Given the description of an element on the screen output the (x, y) to click on. 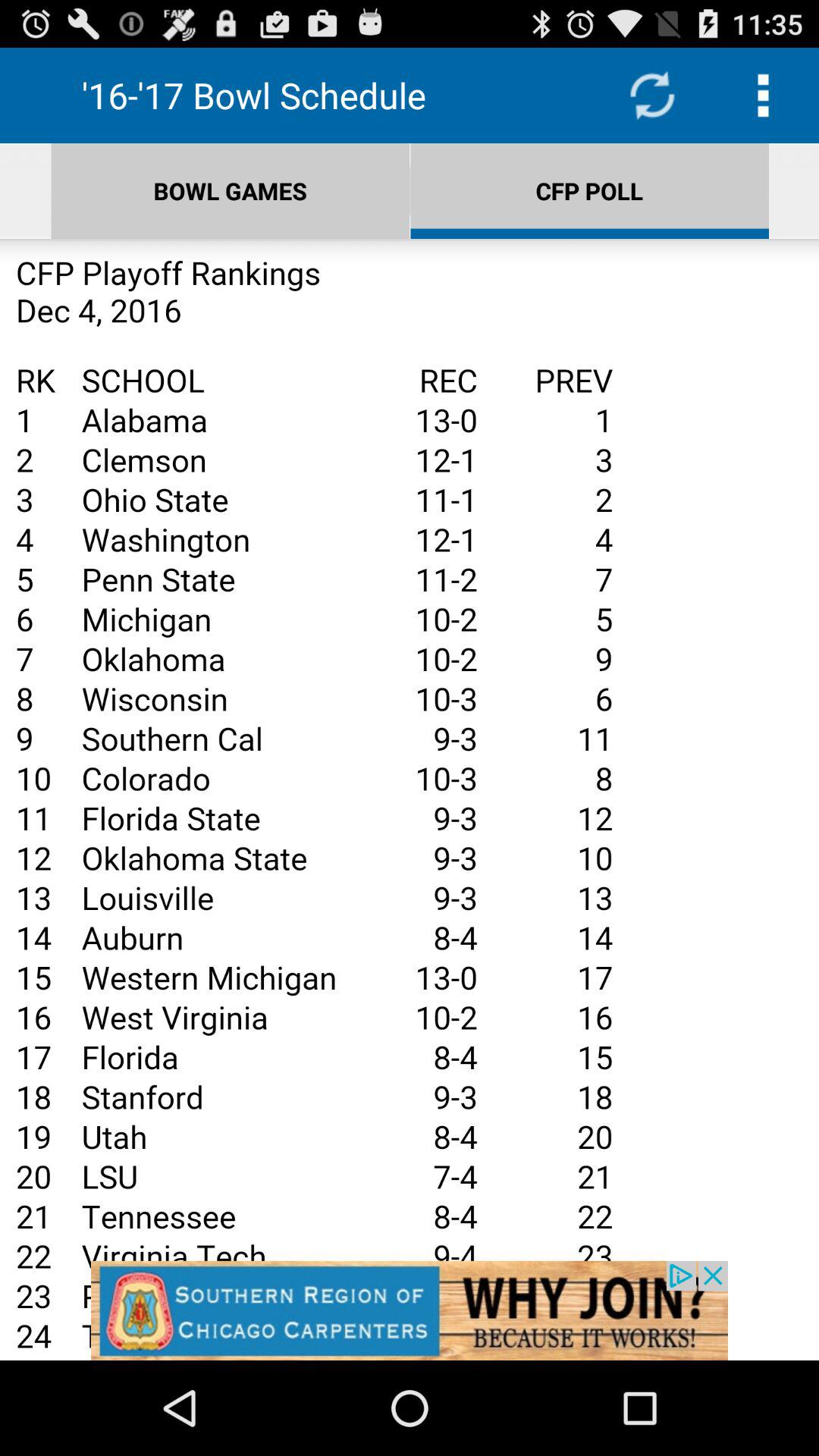
advertisement (409, 1310)
